Given the description of an element on the screen output the (x, y) to click on. 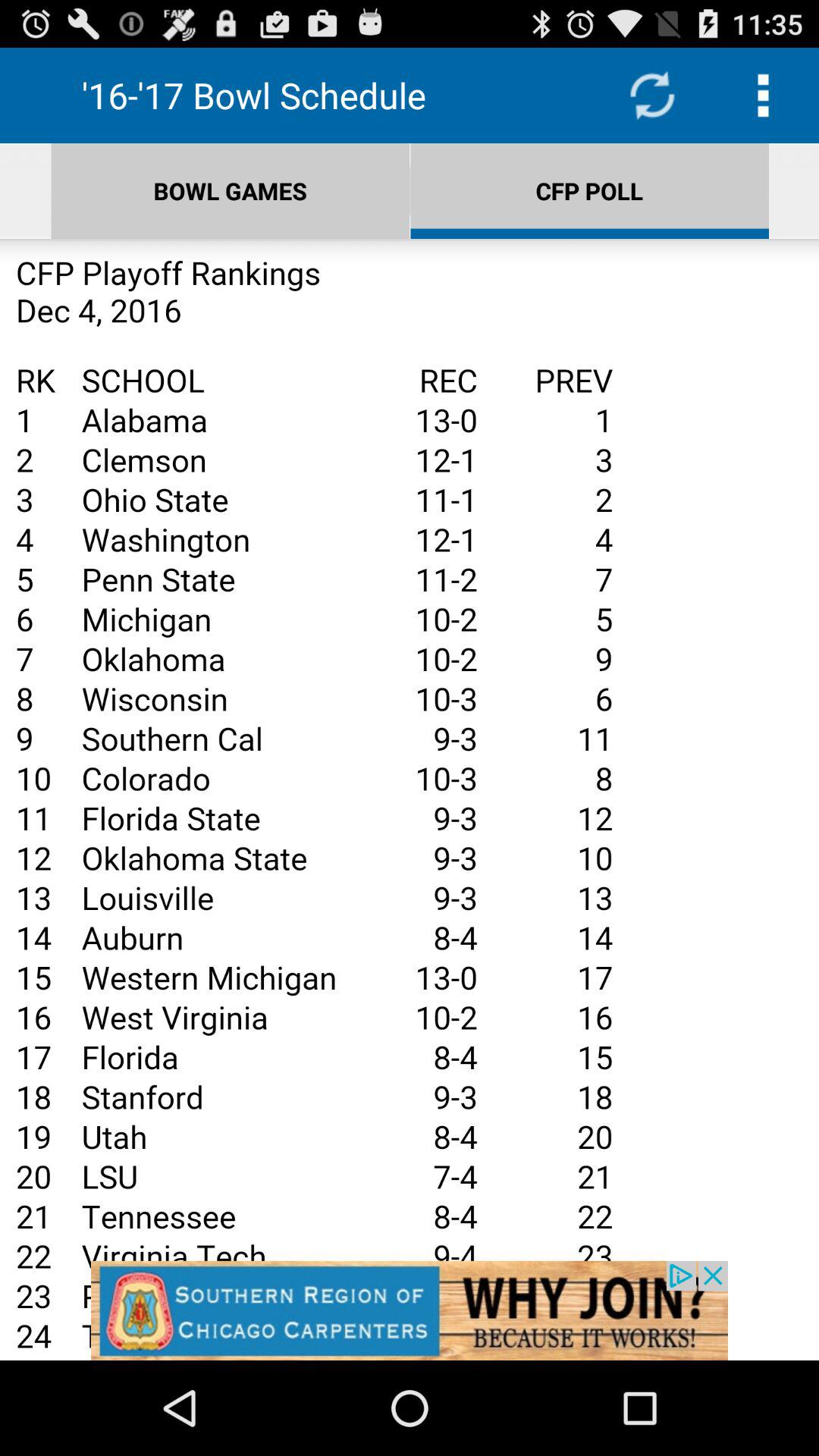
advertisement (409, 1310)
